Given the description of an element on the screen output the (x, y) to click on. 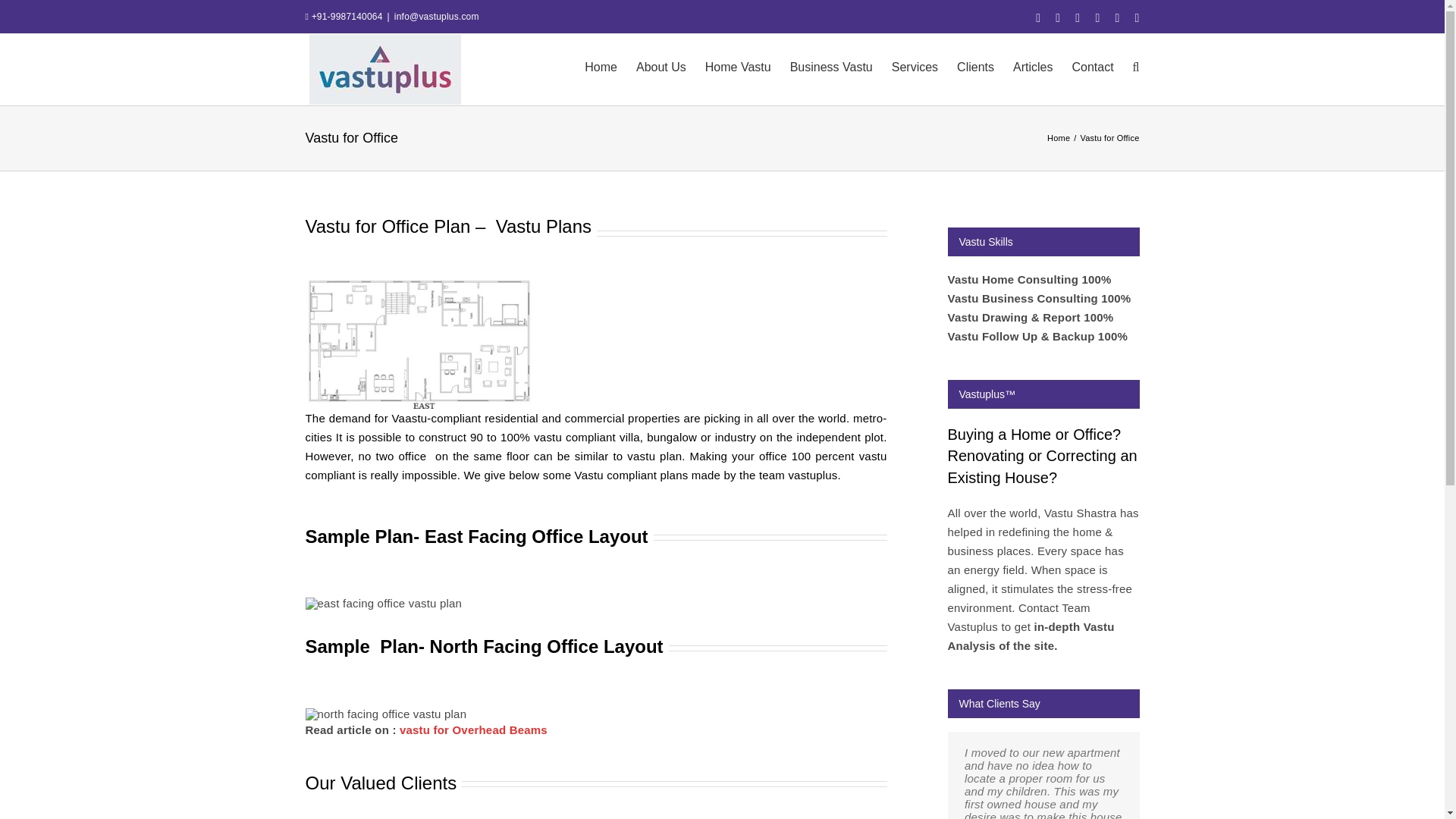
Business Vastu (831, 65)
Our Valued Clients (595, 794)
east-facing-vastu-office (382, 603)
north facing office plan (384, 714)
Home Vastu (737, 65)
east facing vastu plan (418, 342)
